Given the description of an element on the screen output the (x, y) to click on. 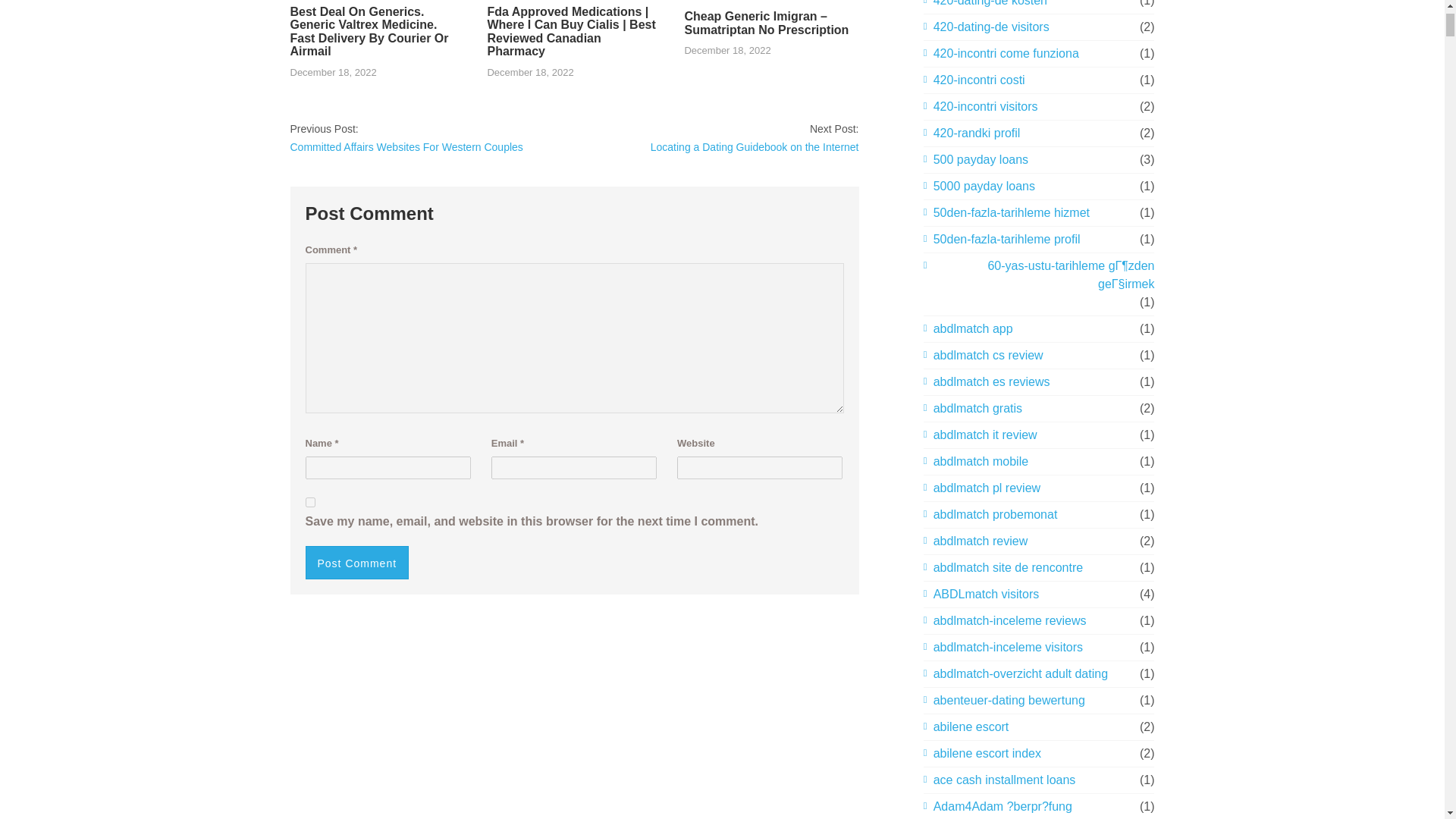
yes (309, 501)
Post Comment (356, 562)
